Given the description of an element on the screen output the (x, y) to click on. 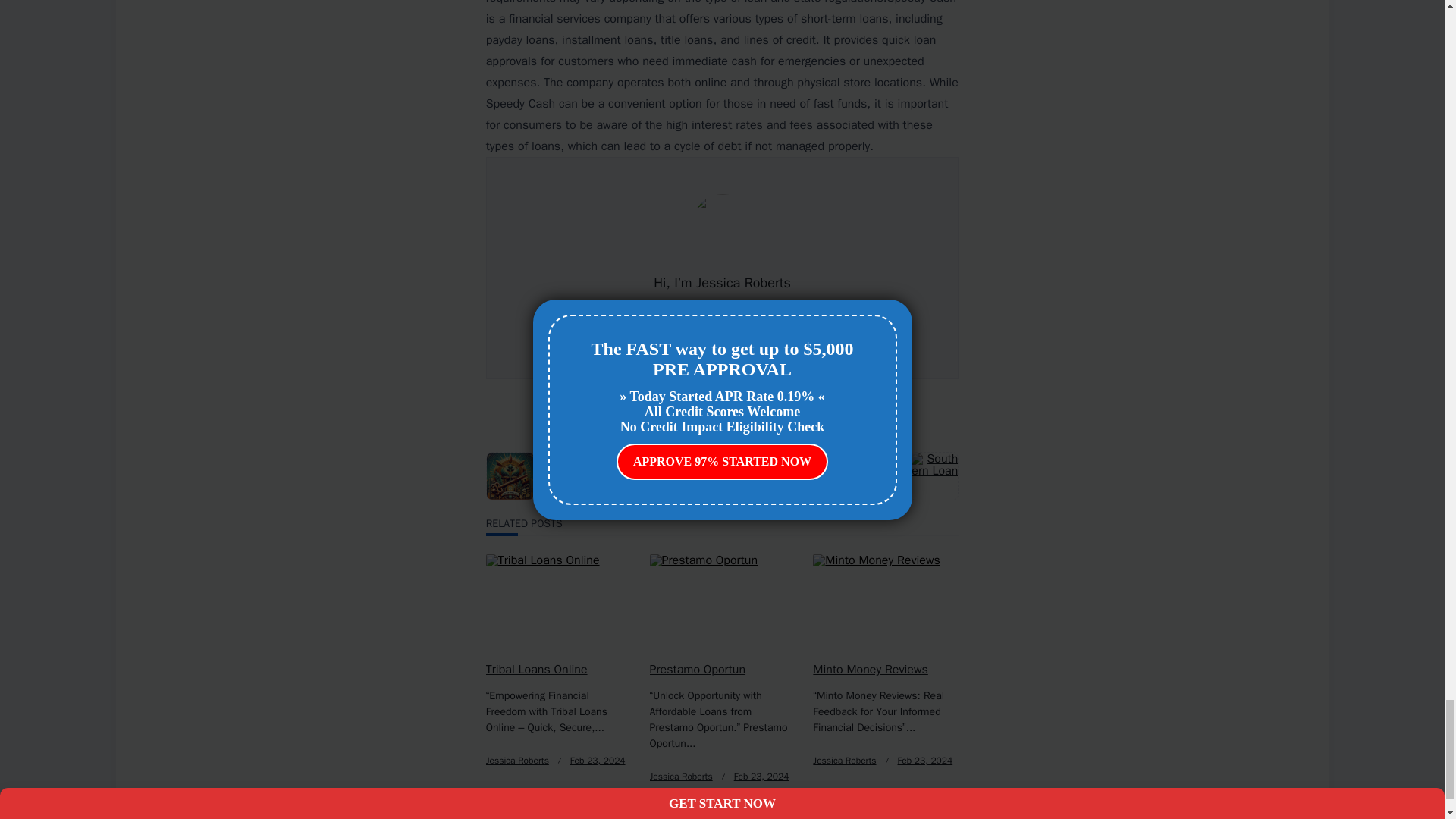
Minto Money Reviews (869, 669)
Prestamo Oportun (697, 669)
Jessica Roberts (844, 760)
Jessica Roberts (681, 776)
Feb 23, 2024 (761, 776)
Feb 23, 2024 (598, 760)
All My Articles (722, 316)
Tribal Loans Online (537, 669)
Jessica Roberts (517, 760)
Feb 23, 2024 (925, 760)
